Given the description of an element on the screen output the (x, y) to click on. 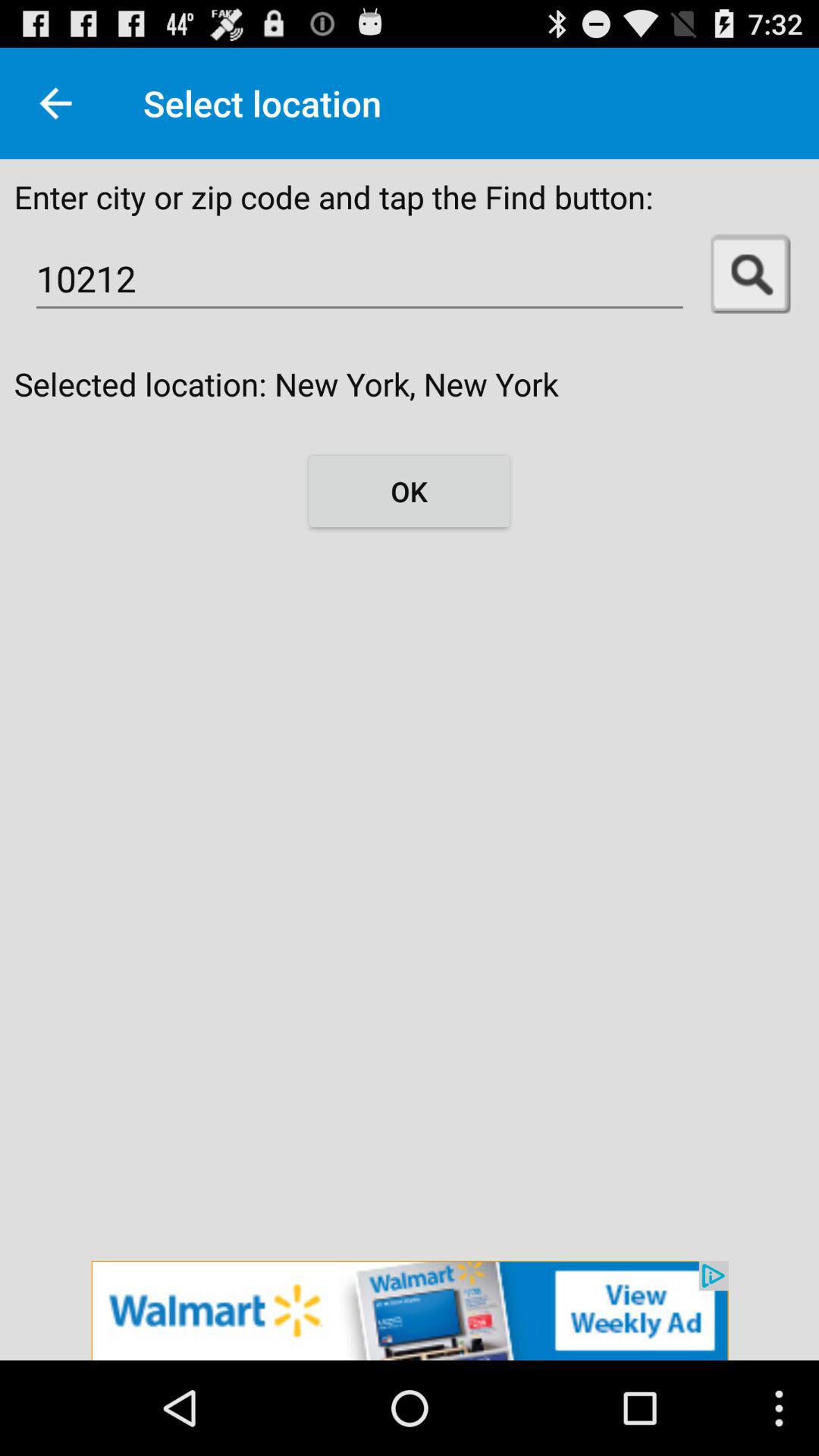
back (55, 103)
